Given the description of an element on the screen output the (x, y) to click on. 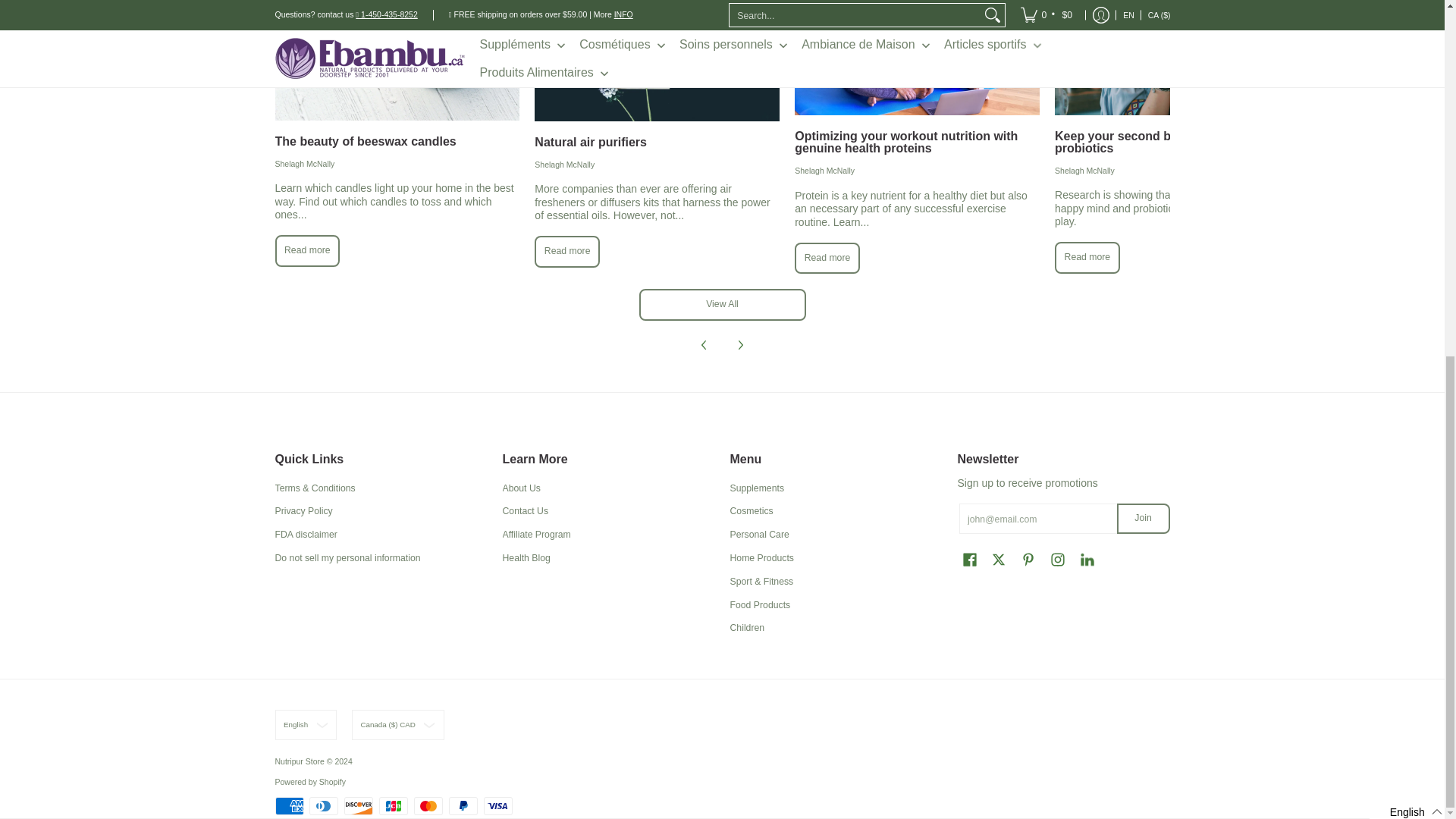
Diners Club (322, 805)
Natural air purifiers (656, 60)
The beauty of beeswax candles (307, 250)
American Express (288, 805)
The beauty of beeswax candles (366, 141)
Natural air purifiers (590, 141)
Read more (307, 250)
Read more (566, 251)
